Given the description of an element on the screen output the (x, y) to click on. 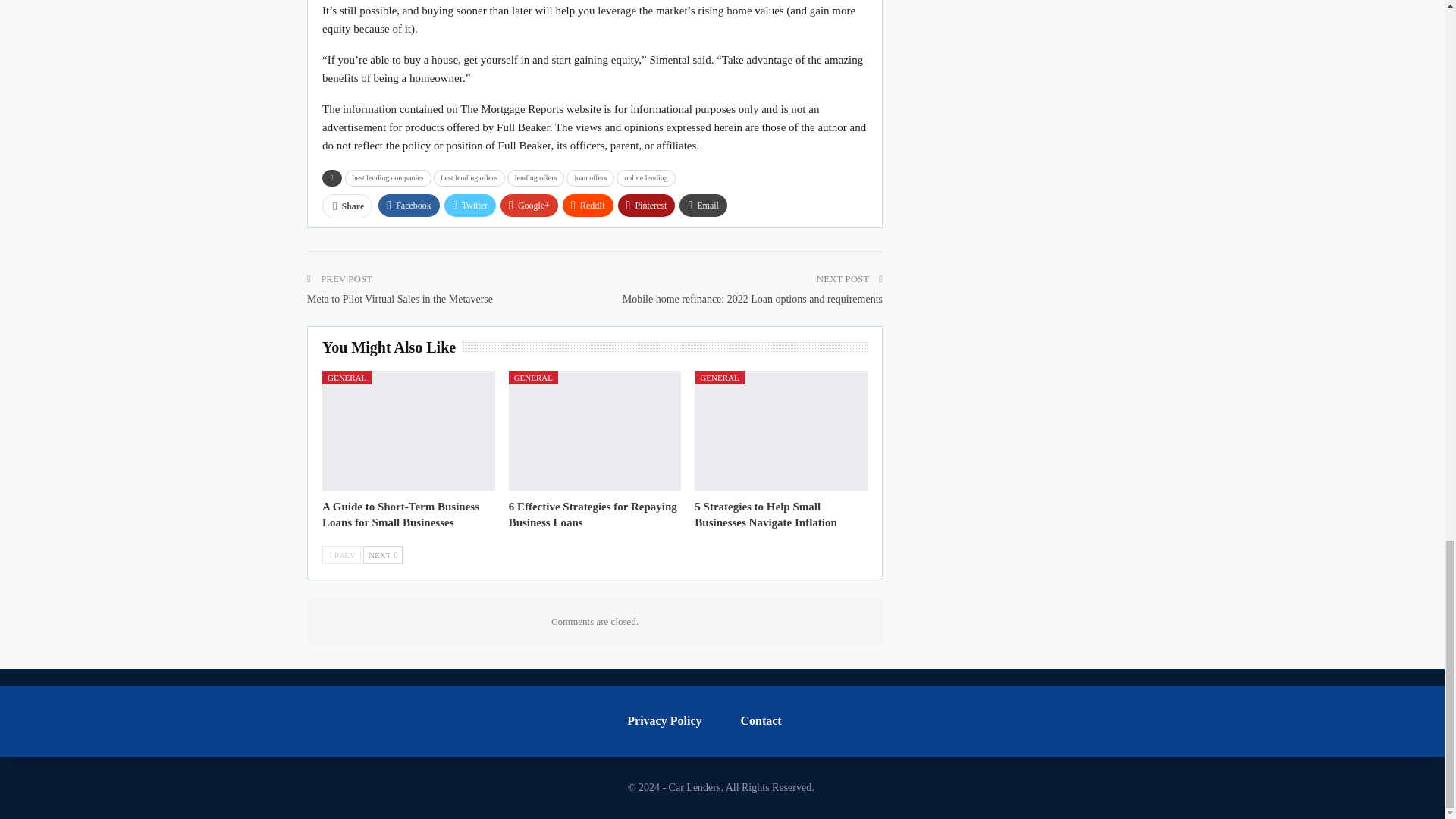
Facebook (408, 205)
6 Effective Strategies for Repaying Business Loans (592, 514)
5 Strategies to Help Small Businesses Navigate Inflation (765, 514)
5 Strategies to Help Small Businesses Navigate Inflation (780, 431)
Email (702, 205)
6 Effective Strategies for Repaying Business Loans (594, 431)
Mobile home refinance: 2022 Loan options and requirements (752, 298)
best lending companies (387, 177)
GENERAL (346, 377)
A Guide to Short-Term Business Loans for Small Businesses (408, 431)
